Given the description of an element on the screen output the (x, y) to click on. 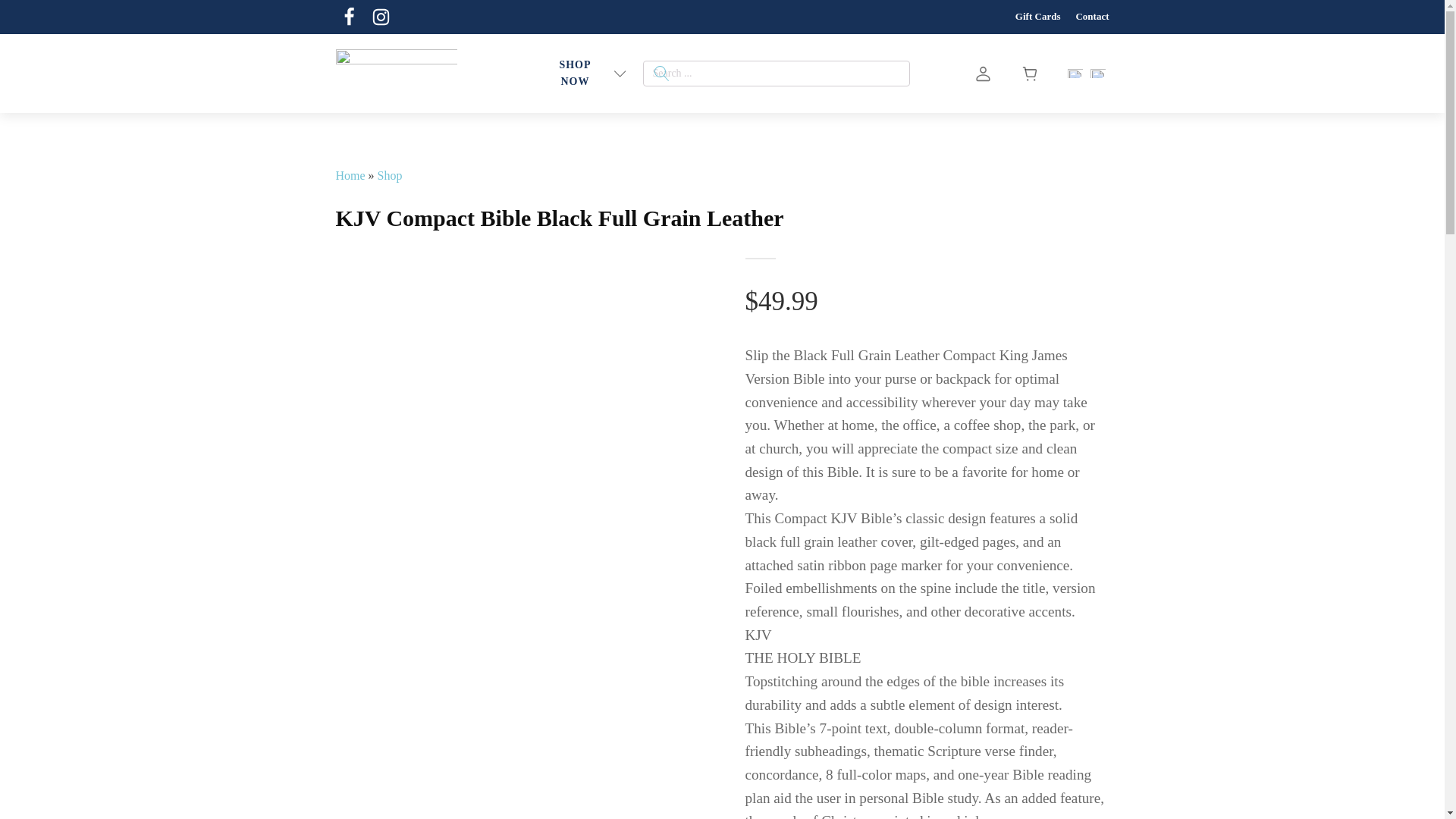
Gift Cards (1037, 17)
Home (349, 174)
SHOP NOW (575, 74)
Shop (390, 174)
Search (31, 13)
Search for: (776, 73)
Contact (1091, 17)
